Given the description of an element on the screen output the (x, y) to click on. 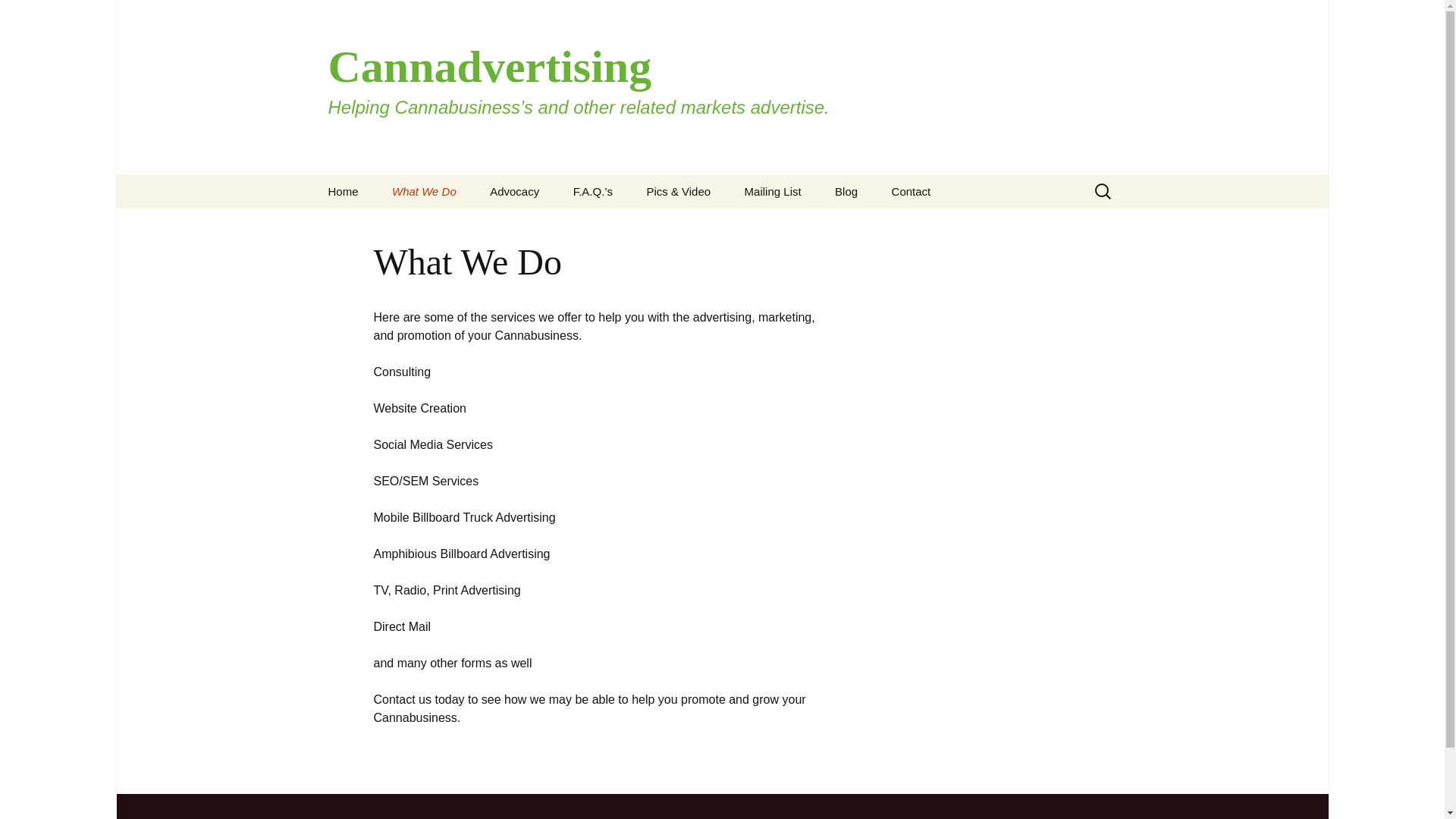
Advocates (550, 225)
Advertising vs. Marketing (633, 230)
Advocacy (514, 191)
Search (18, 15)
What We Do (424, 191)
Contact (911, 191)
Home (342, 191)
Blog (845, 191)
Mailing List (772, 191)
